Given the description of an element on the screen output the (x, y) to click on. 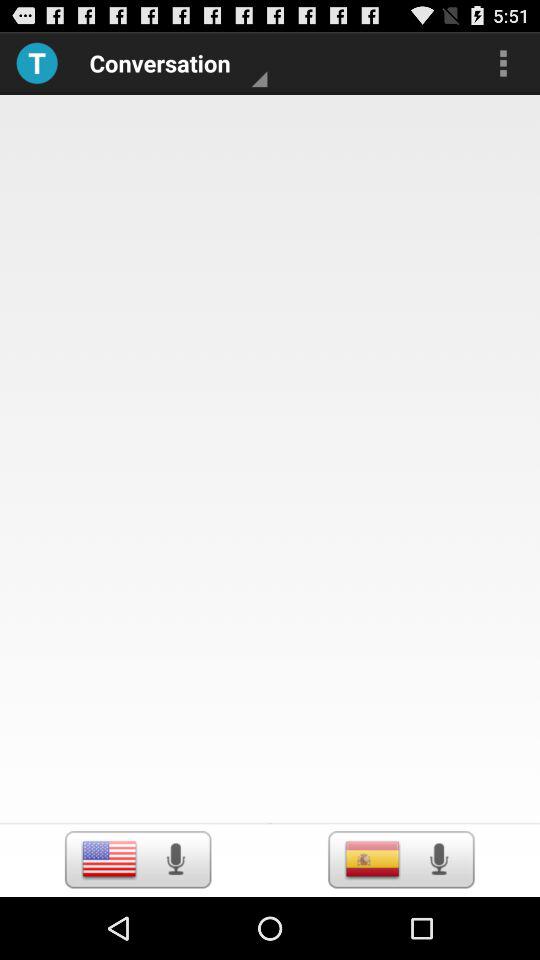
select american english (108, 859)
